Given the description of an element on the screen output the (x, y) to click on. 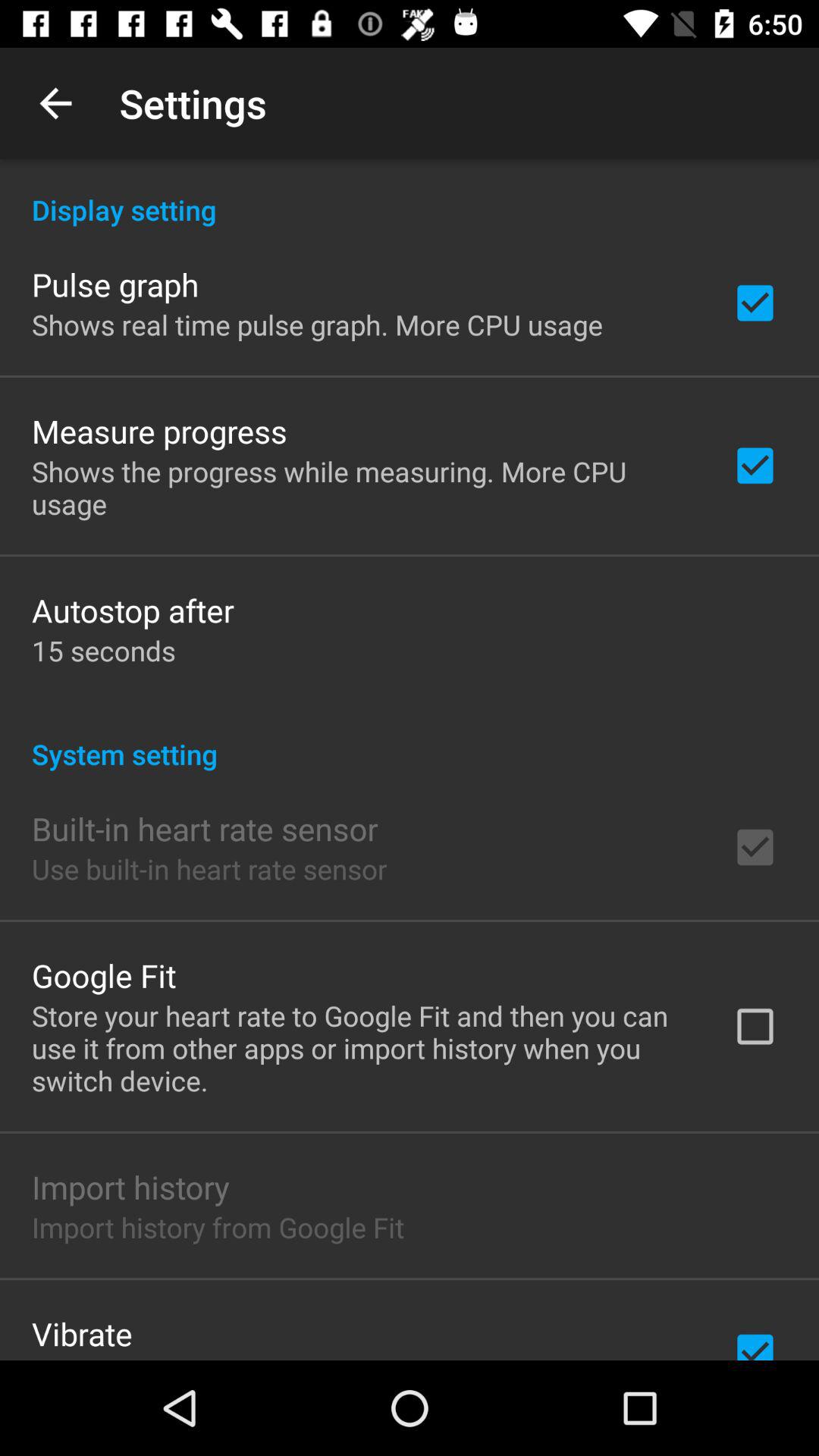
choose the icon below measure progress icon (361, 487)
